Given the description of an element on the screen output the (x, y) to click on. 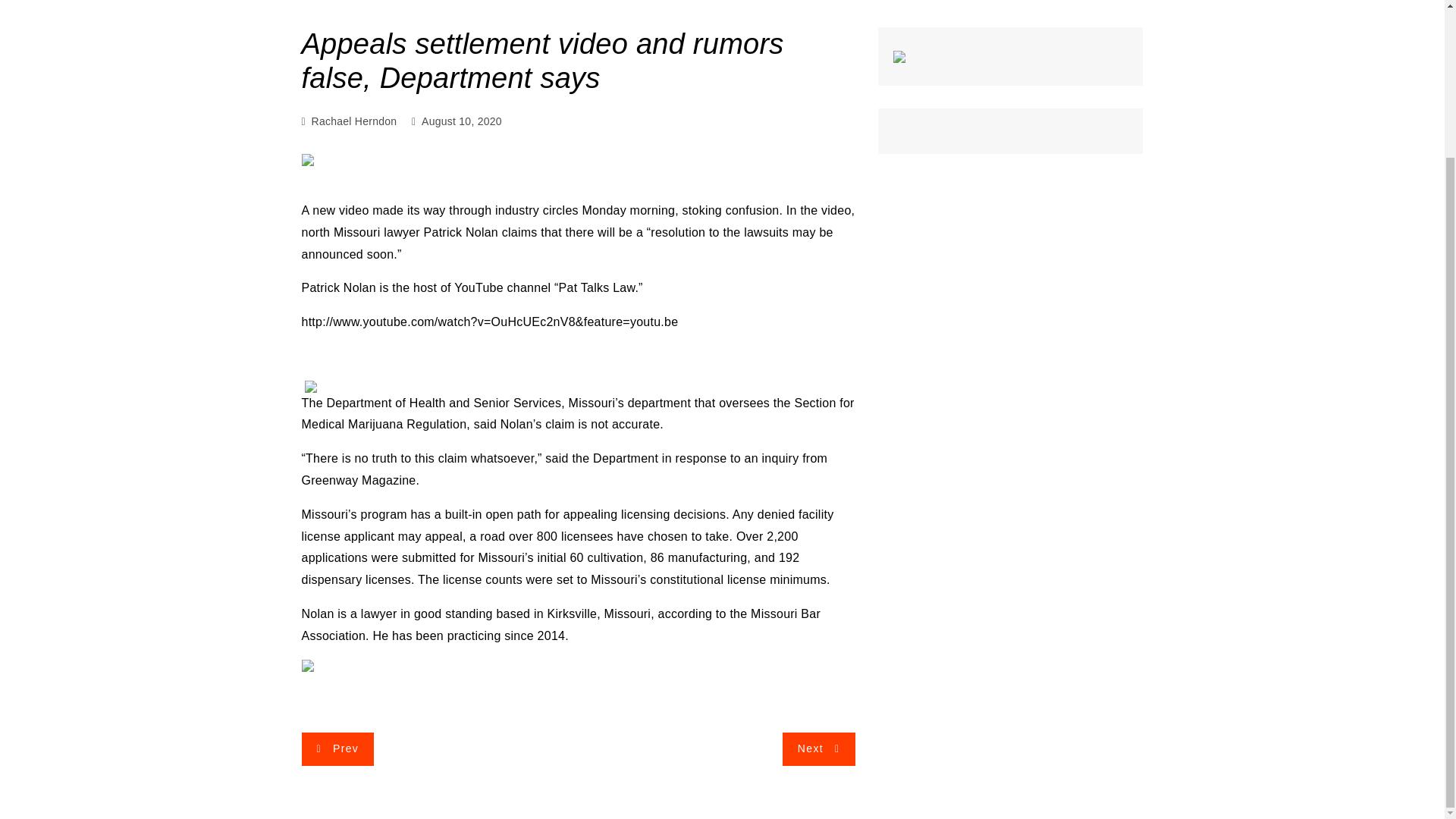
August 10, 2020 (462, 121)
Rachael Herndon (354, 121)
Next (819, 748)
Prev (337, 748)
